Given the description of an element on the screen output the (x, y) to click on. 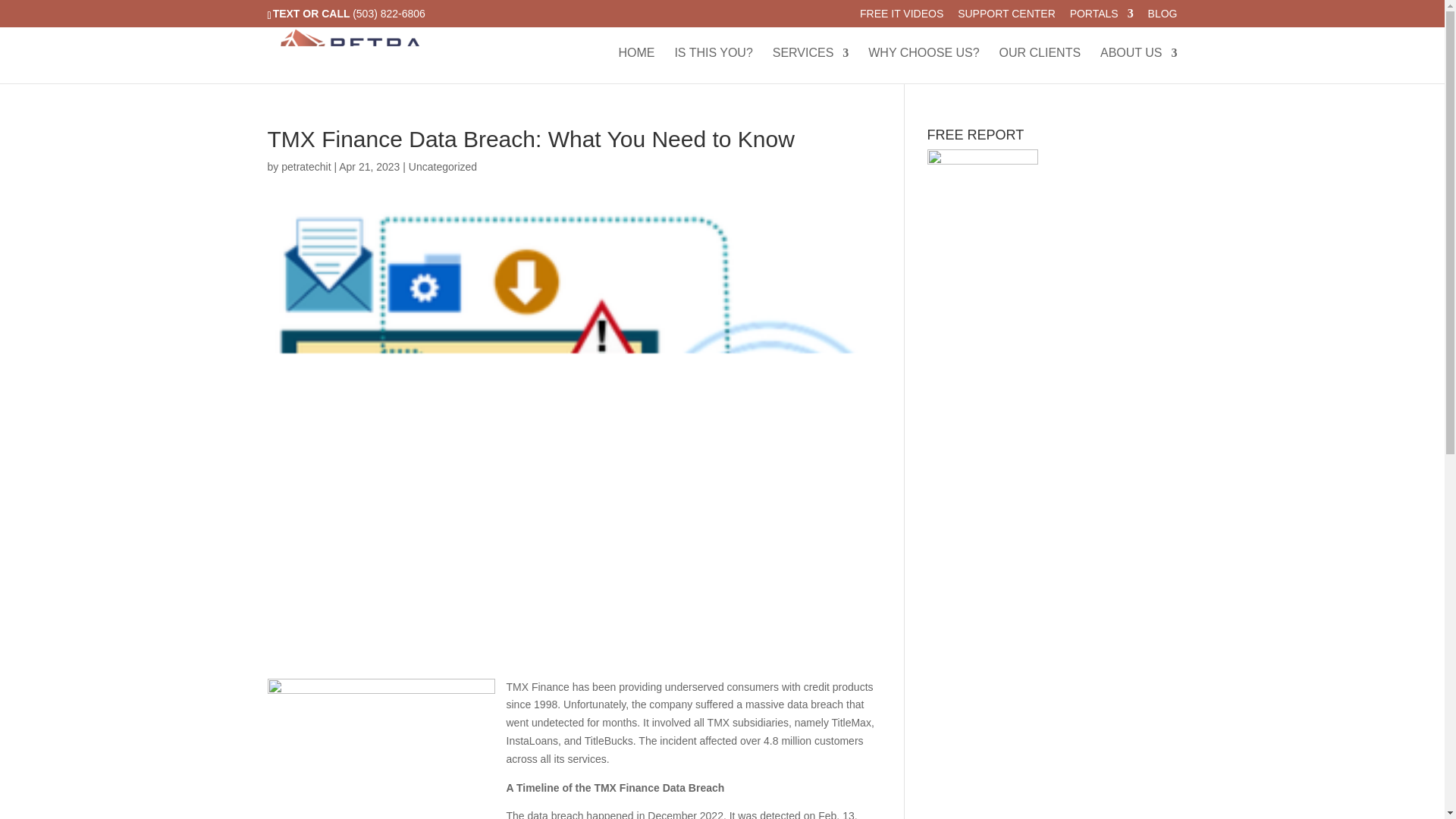
IS THIS YOU? (713, 65)
Posts by petratechit (305, 166)
SUPPORT CENTER (1006, 16)
PORTALS (1102, 16)
ABOUT US (1138, 65)
BLOG (1162, 16)
Uncategorized (443, 166)
FREE IT VIDEOS (901, 16)
OUR CLIENTS (1039, 65)
SERVICES (810, 65)
